Given the description of an element on the screen output the (x, y) to click on. 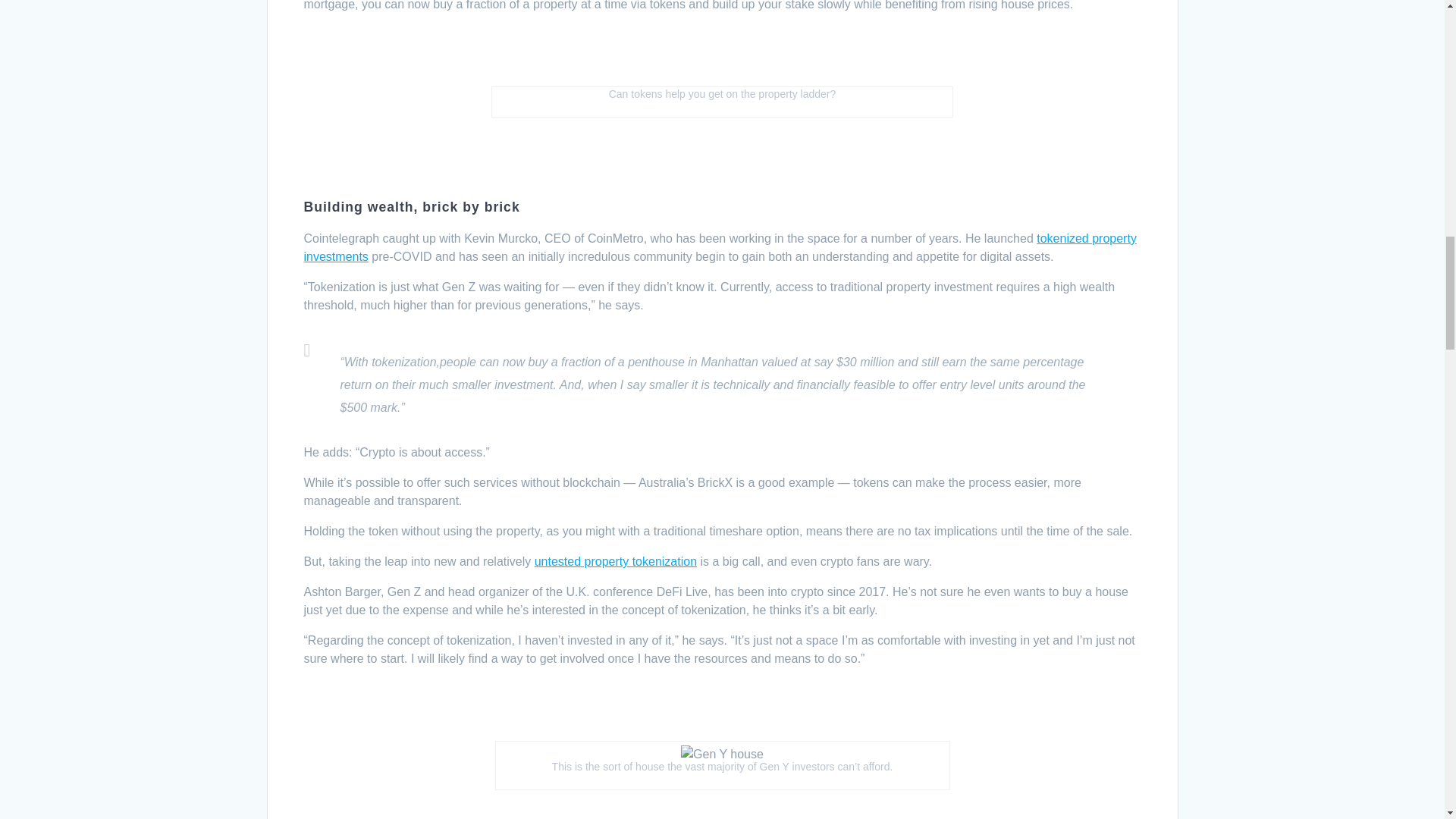
tokenized property investments (718, 246)
untested property tokenization (615, 561)
